Given the description of an element on the screen output the (x, y) to click on. 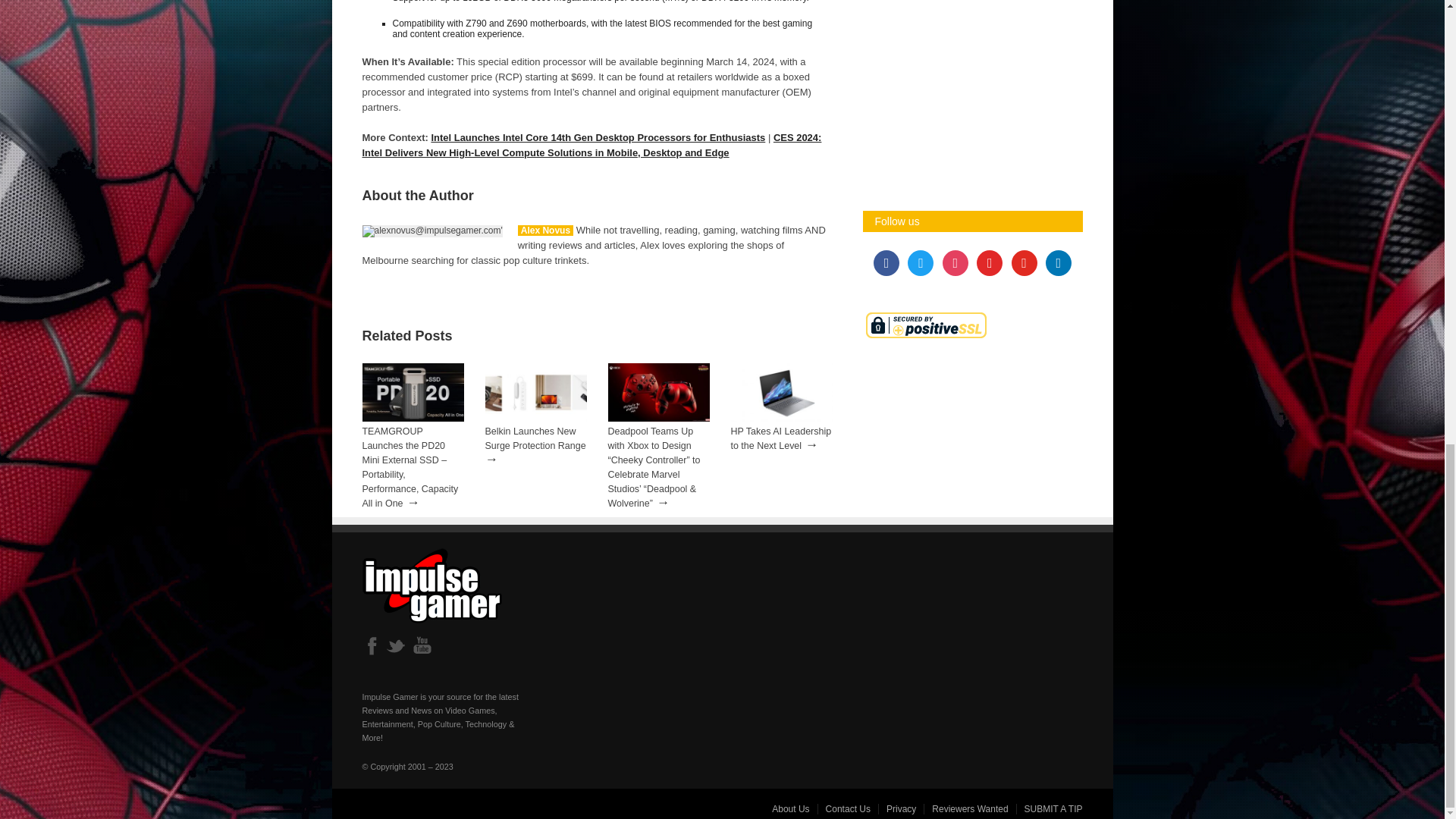
HP Takes AI Leadership to the Next Level (780, 438)
Belkin Launches New Surge Protection Range (535, 418)
Posts by Alex Novus (545, 230)
HP Takes AI Leadership to the Next Level (781, 418)
Belkin Launches New Surge Protection Range (535, 438)
